Given the description of an element on the screen output the (x, y) to click on. 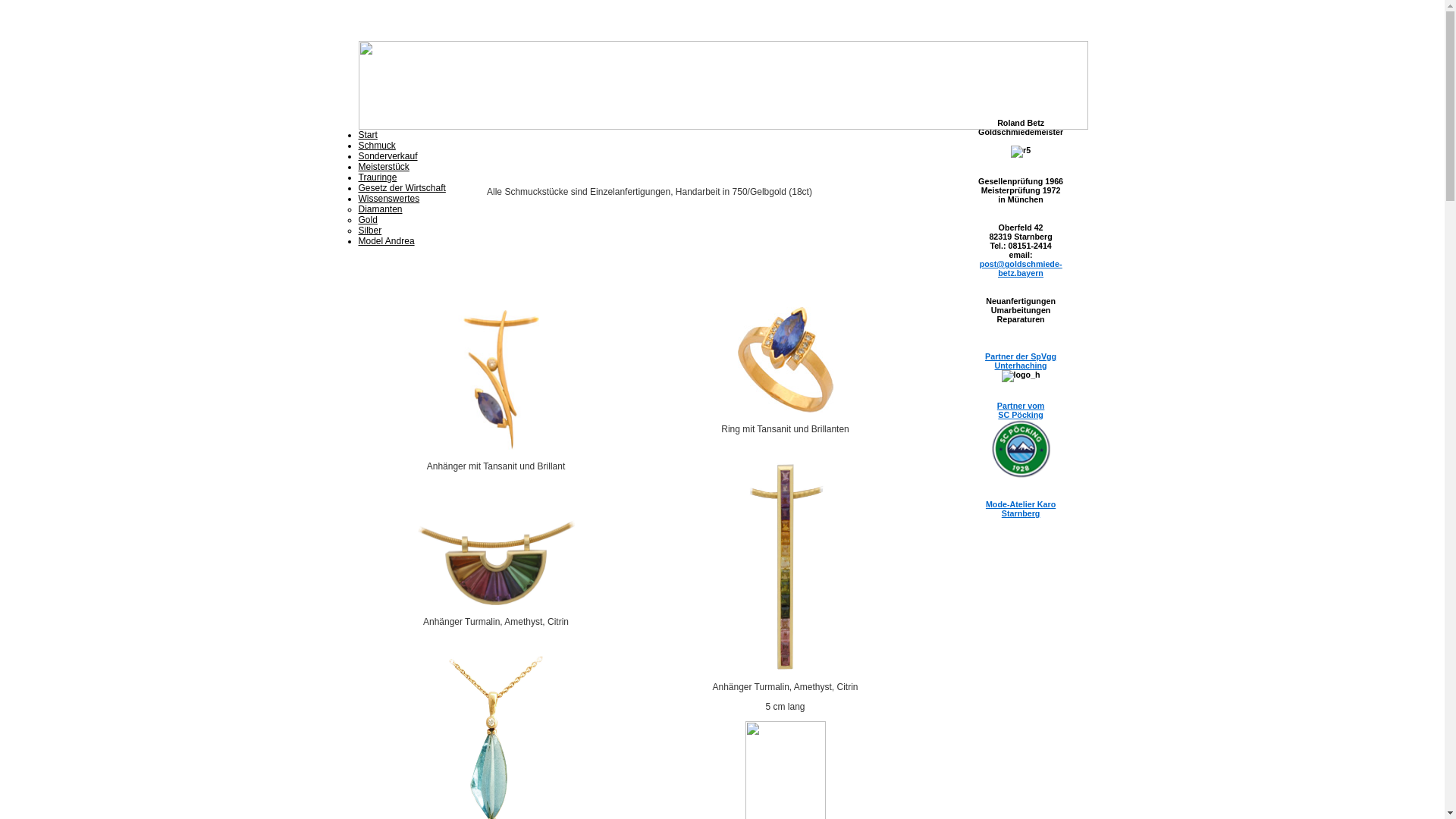
Sonderverkauf Element type: text (387, 155)
Trauringe Element type: text (376, 177)
Gold Element type: text (366, 219)
Schmuck Element type: text (376, 145)
Partner der SpVgg
Unterhaching Element type: text (1020, 360)
Wissenswertes Element type: text (388, 198)
Gesetz der Wirtschaft Element type: text (401, 187)
Diamanten Element type: text (379, 208)
post@goldschmiede-betz.bayern Element type: text (1020, 268)
Model Andrea Element type: text (385, 240)
Silber Element type: text (369, 230)
Start Element type: text (366, 134)
Mode-Atelier Karo
Starnberg Element type: text (1020, 508)
